Given the description of an element on the screen output the (x, y) to click on. 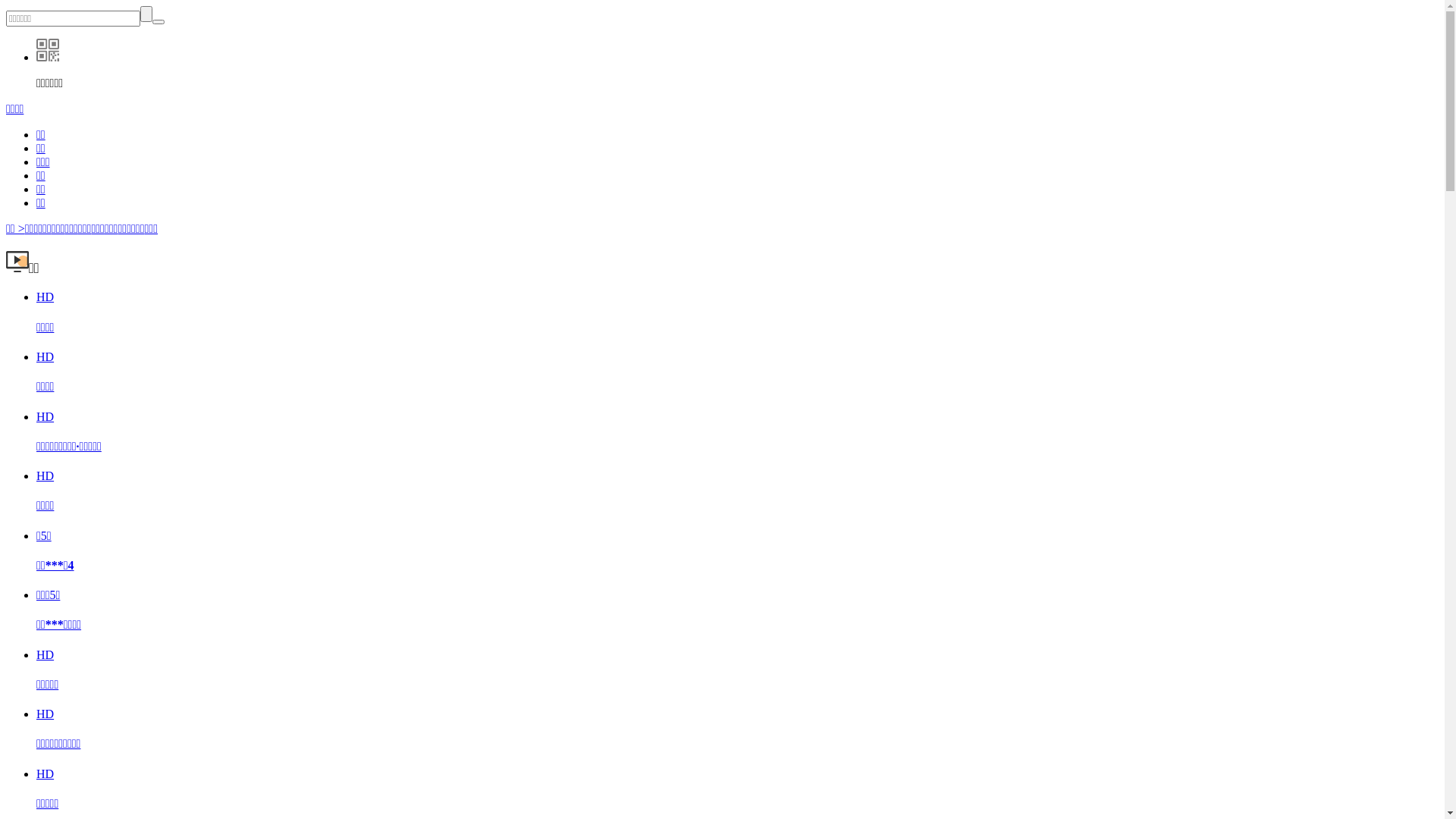
HD Element type: text (44, 356)
HD Element type: text (44, 654)
HD Element type: text (44, 475)
HD Element type: text (44, 296)
HD Element type: text (44, 773)
HD Element type: text (44, 713)
HD Element type: text (44, 415)
